Given the description of an element on the screen output the (x, y) to click on. 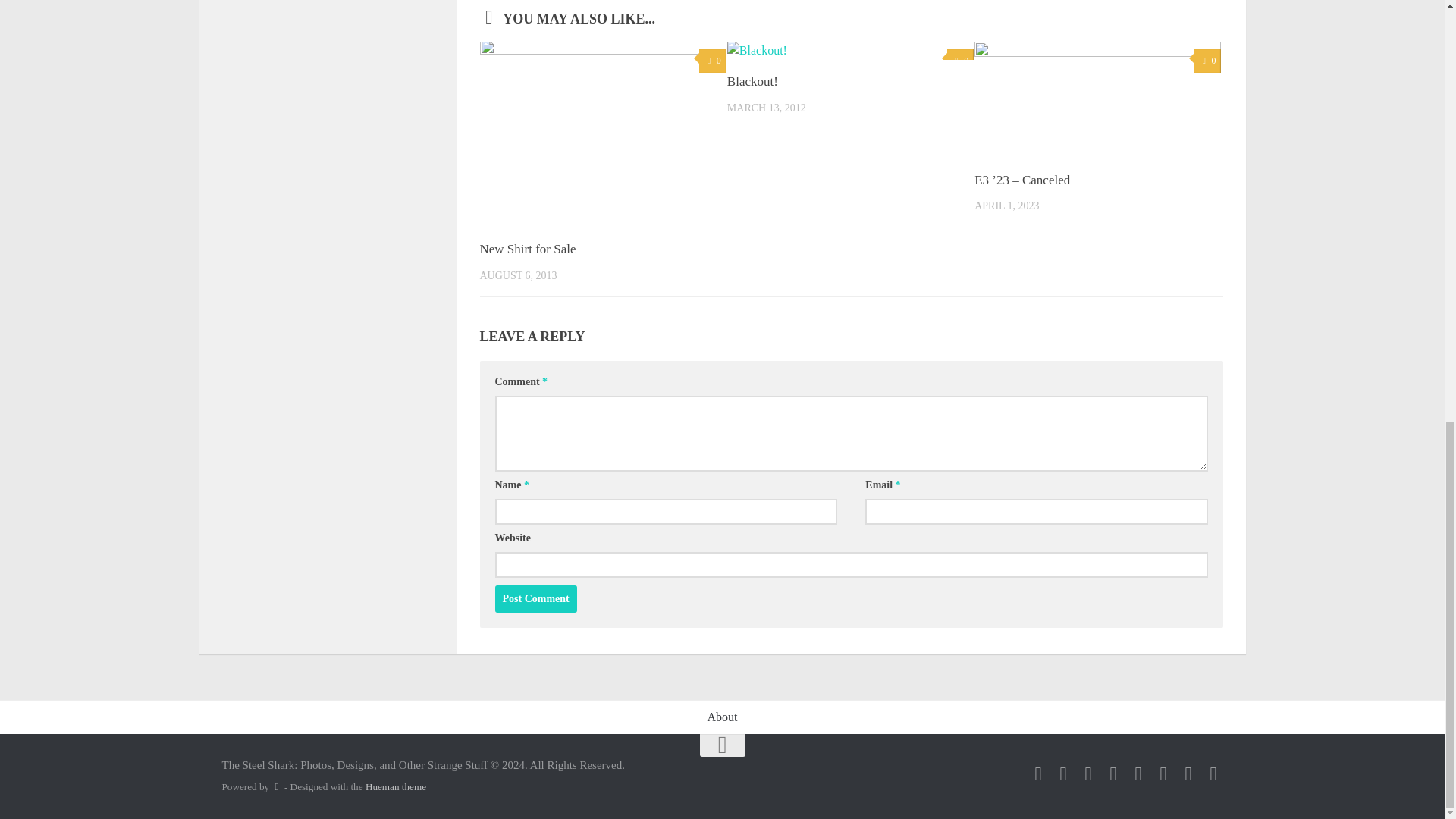
0 (711, 60)
Blackout! (751, 81)
Post Comment (535, 598)
0 (960, 60)
0 (1207, 60)
New Shirt for Sale (527, 248)
